Given the description of an element on the screen output the (x, y) to click on. 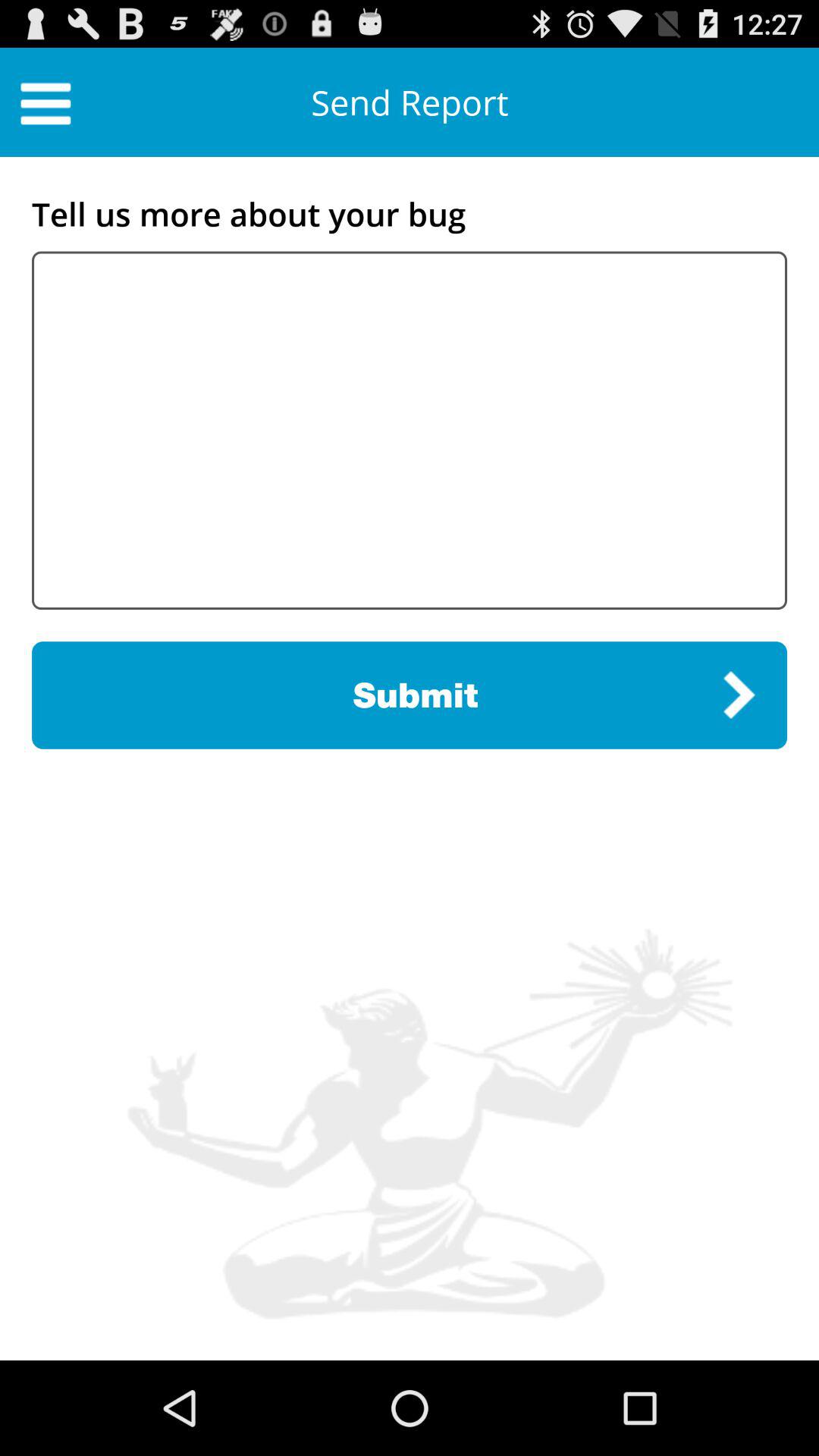
turn off the submit item (409, 695)
